Given the description of an element on the screen output the (x, y) to click on. 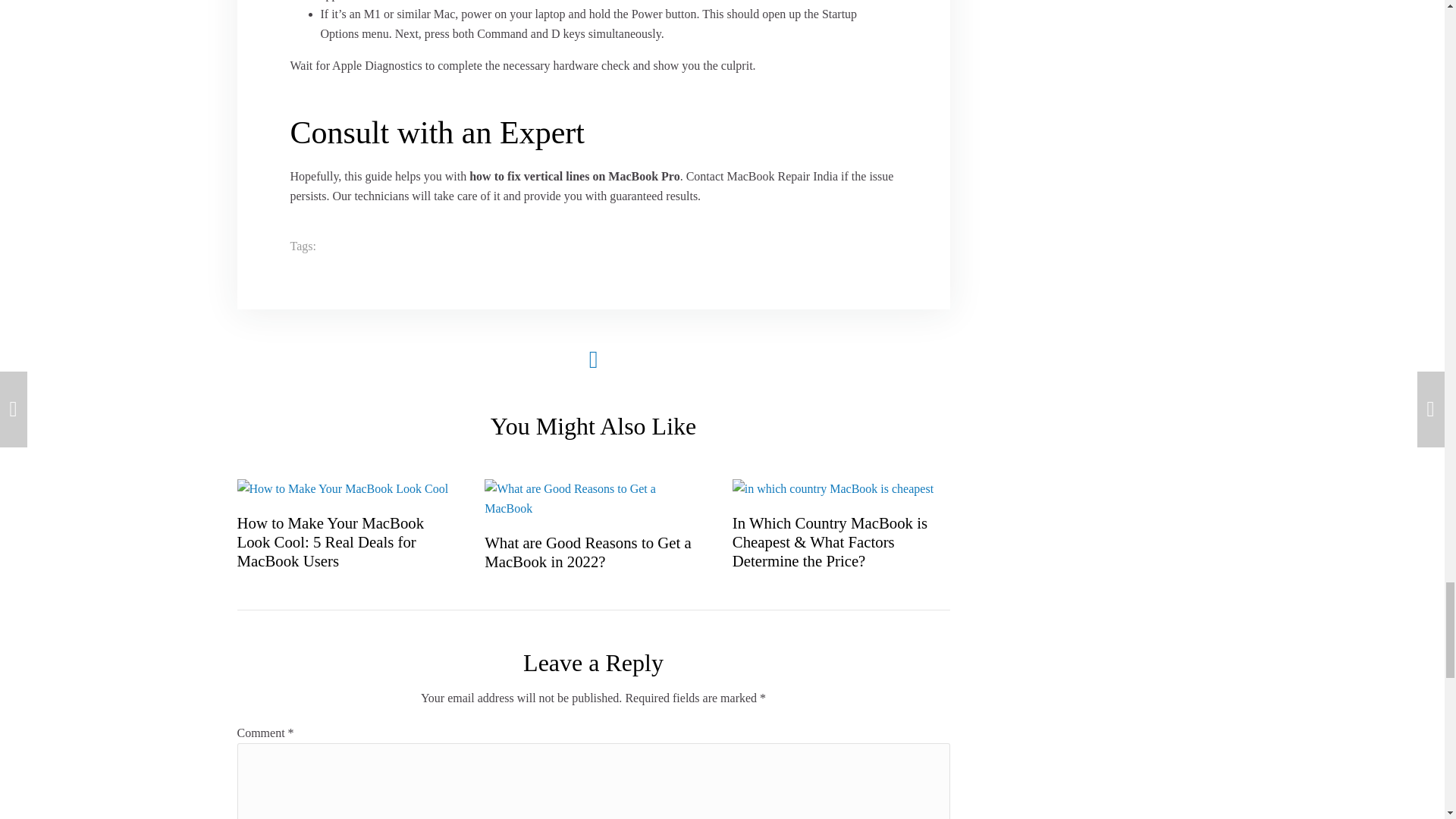
What are Good Reasons to Get a MacBook in 2022? (587, 551)
